Given the description of an element on the screen output the (x, y) to click on. 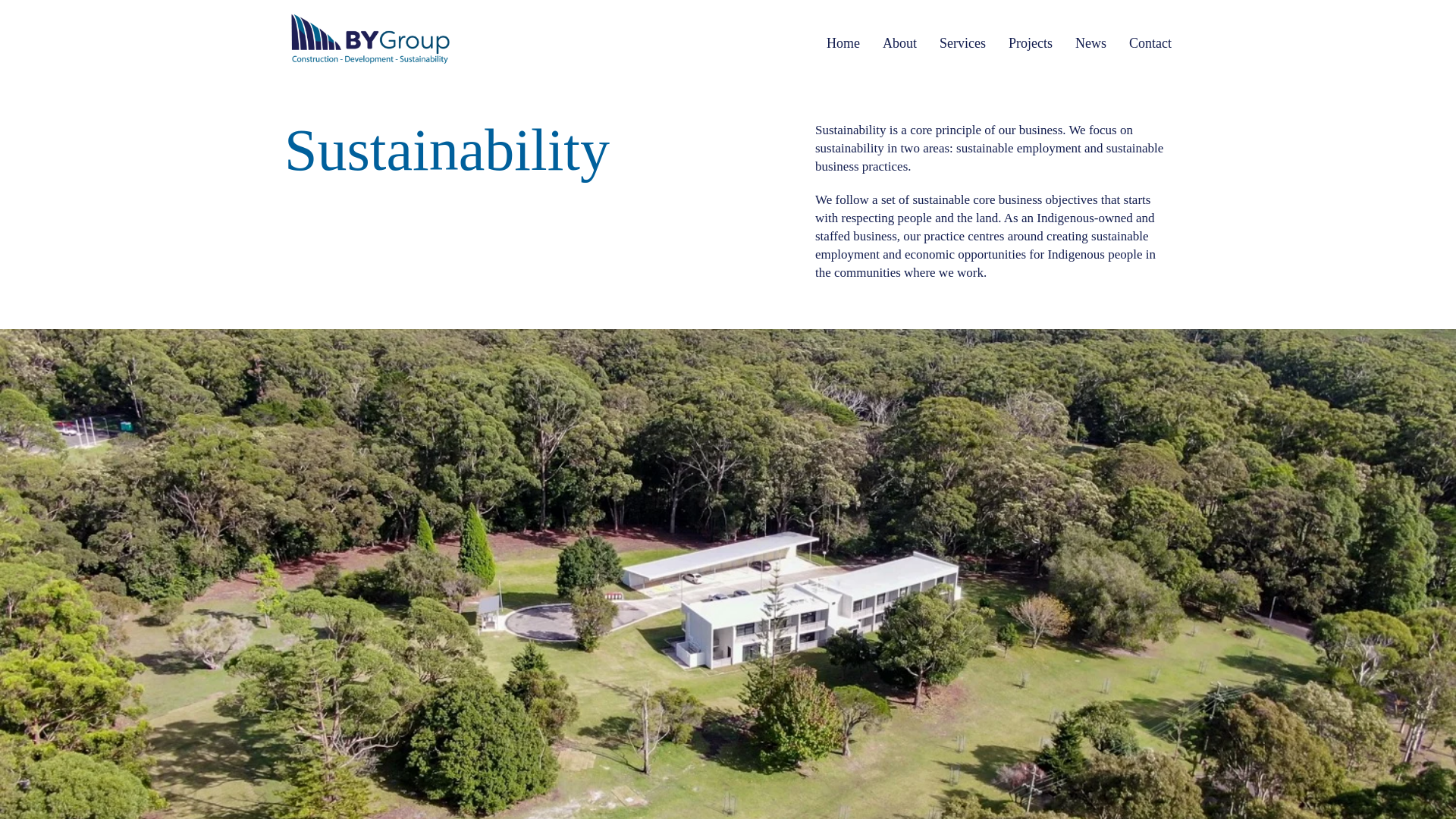
About (899, 43)
Projects (1030, 43)
Home (843, 43)
Services (962, 43)
News (1090, 43)
Contact (1150, 43)
